Given the description of an element on the screen output the (x, y) to click on. 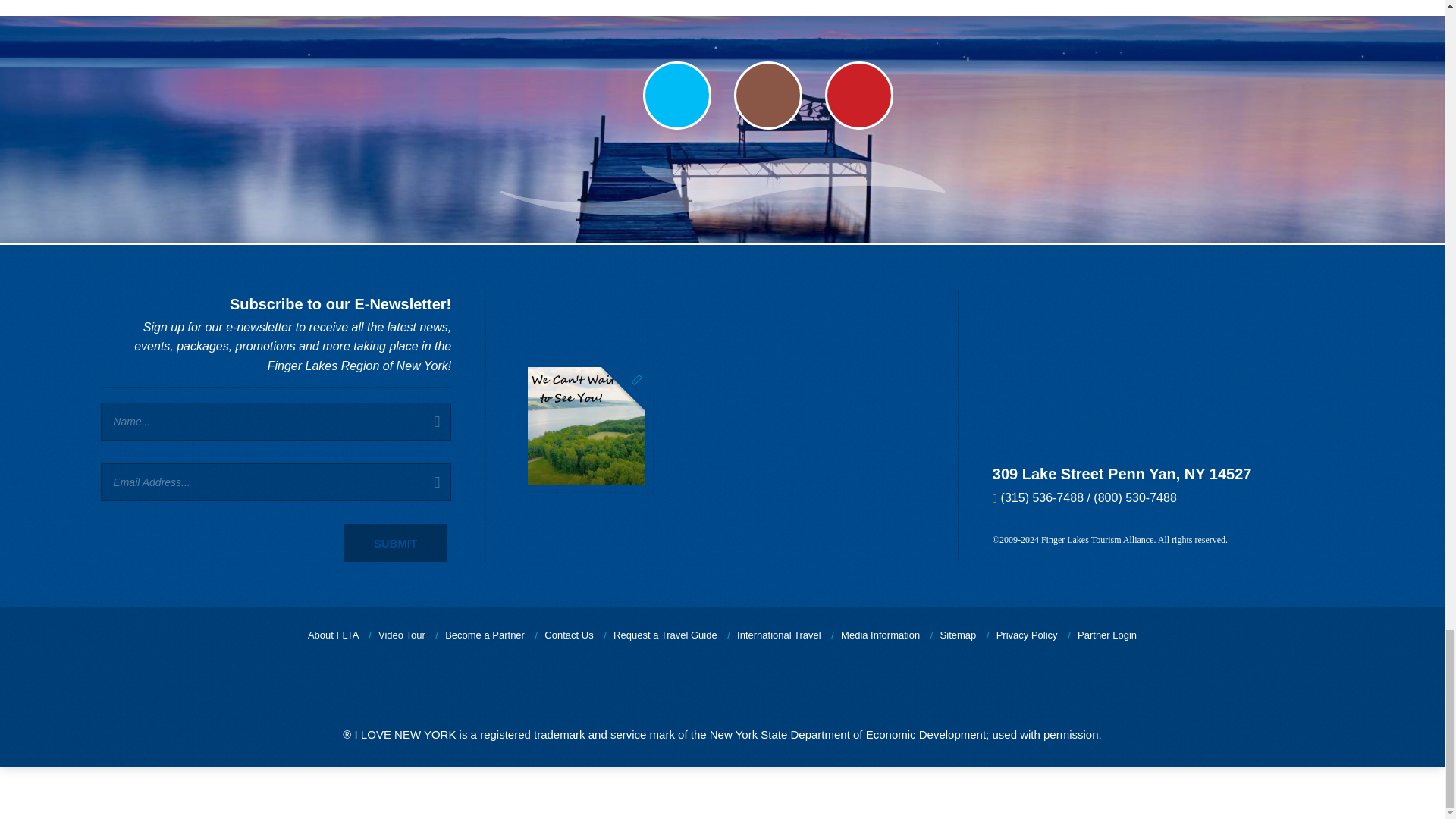
Submit (395, 542)
Take Our Video Tour (401, 634)
